Given the description of an element on the screen output the (x, y) to click on. 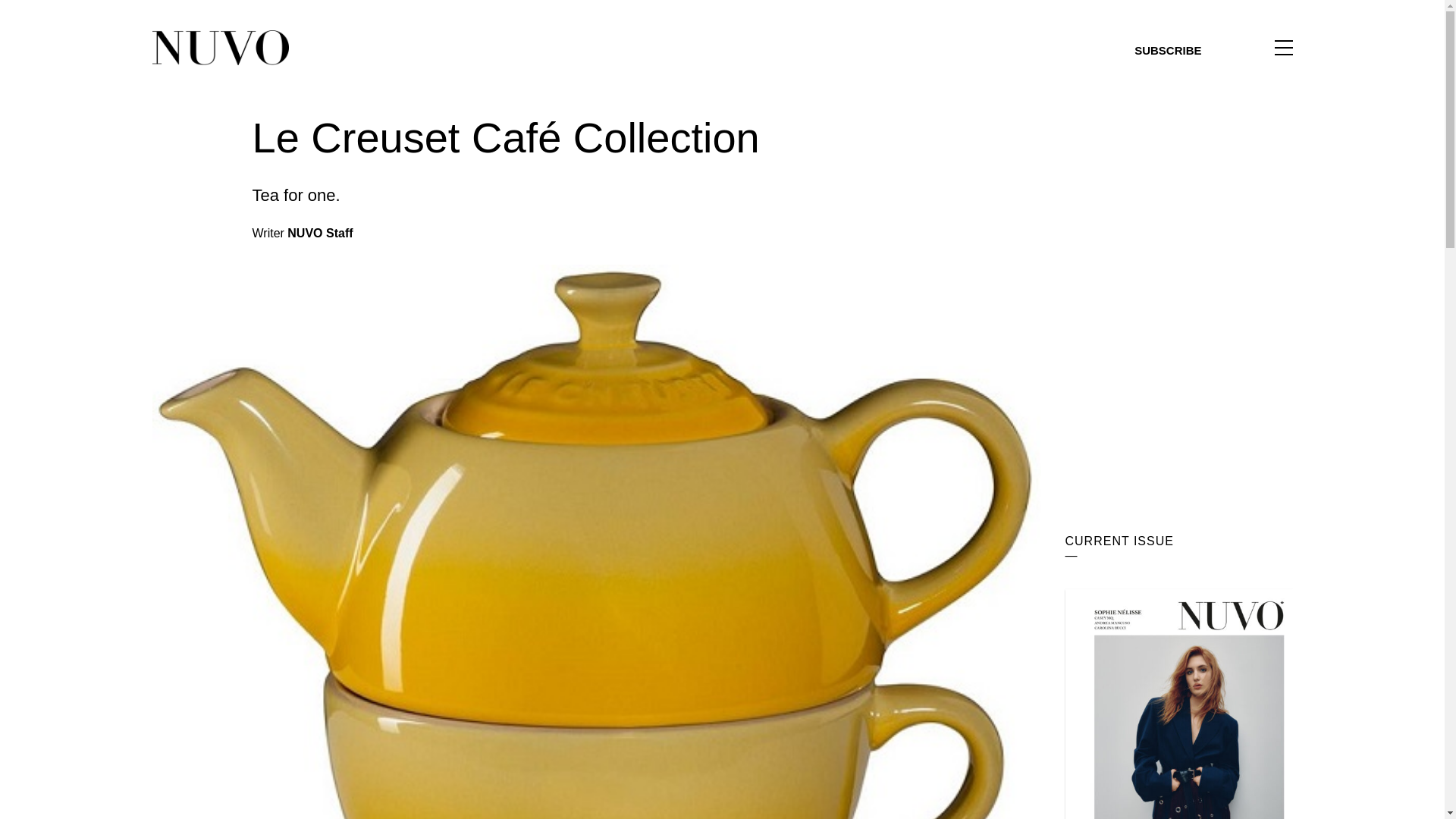
View all posts by NUVO Staff (319, 232)
SUBSCRIBE (1167, 50)
3rd party ad content (1178, 208)
3rd party ad content (1178, 416)
